Given the description of an element on the screen output the (x, y) to click on. 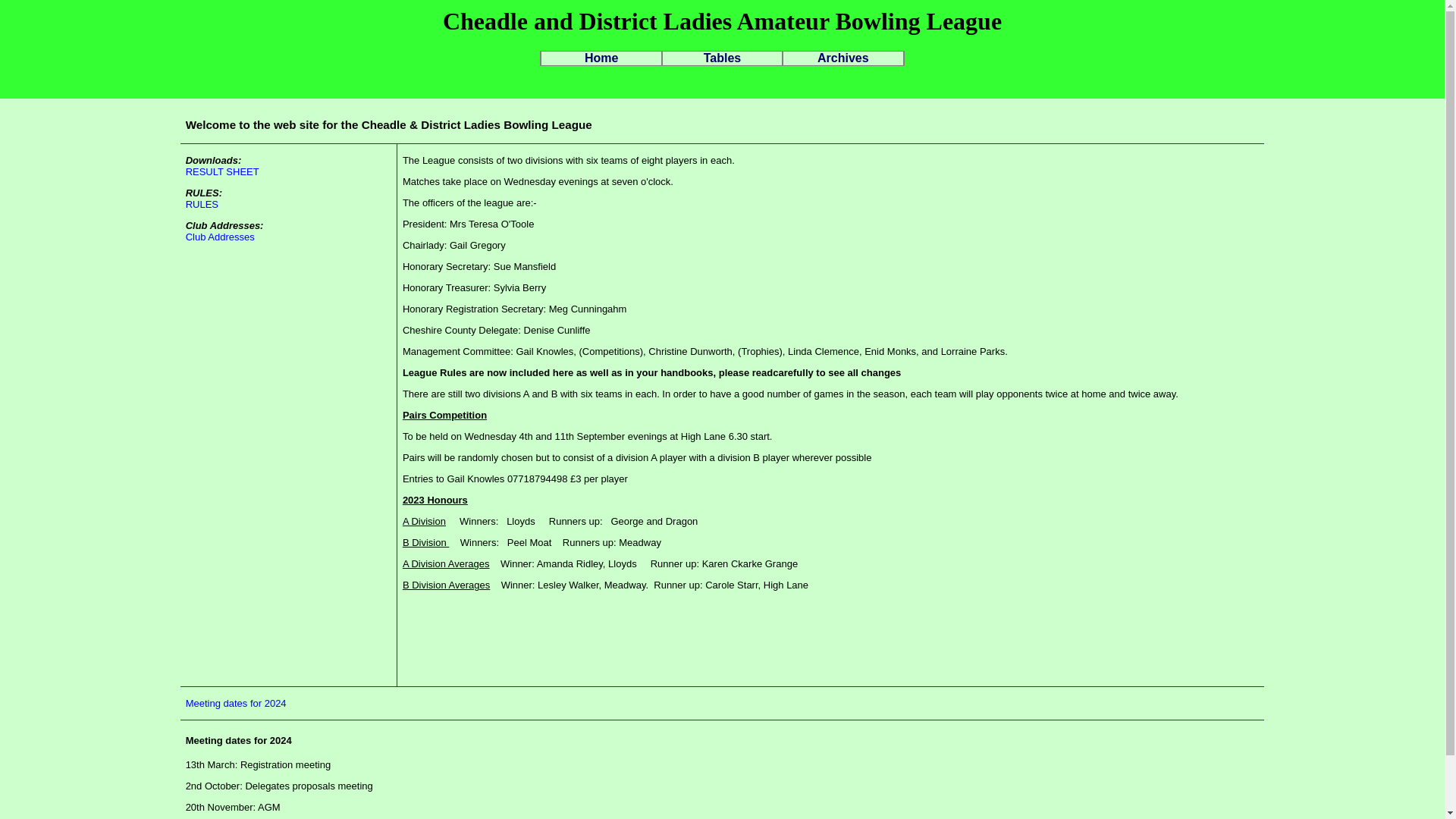
Meeting dates for 2024 (236, 703)
Home (601, 57)
RULES (202, 204)
Result Sheet (222, 171)
Tables (722, 57)
Archives (842, 57)
RESULT SHEET (222, 171)
Club Addresses (220, 236)
